Given the description of an element on the screen output the (x, y) to click on. 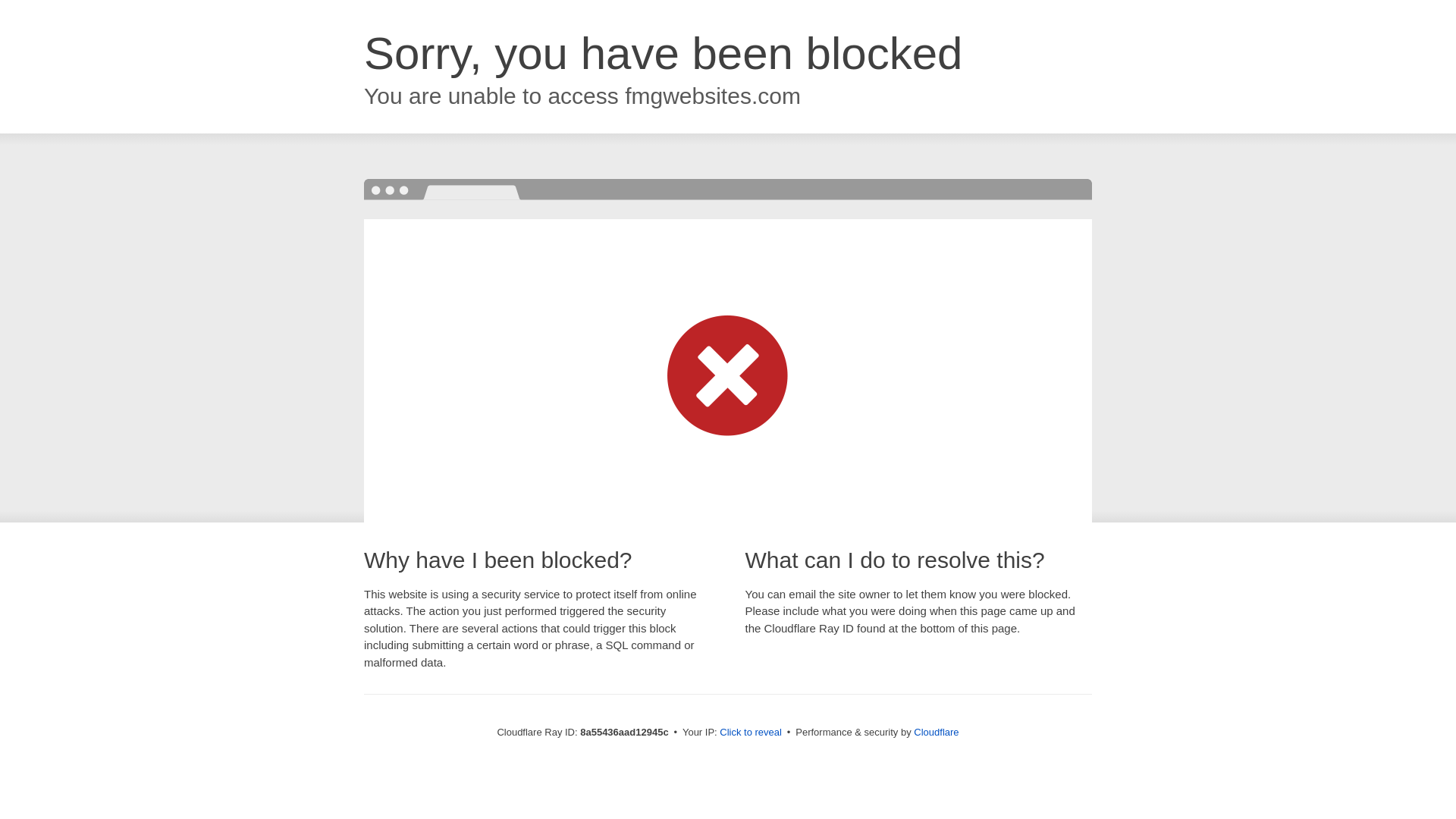
Click to reveal (750, 732)
Cloudflare (936, 731)
